Given the description of an element on the screen output the (x, y) to click on. 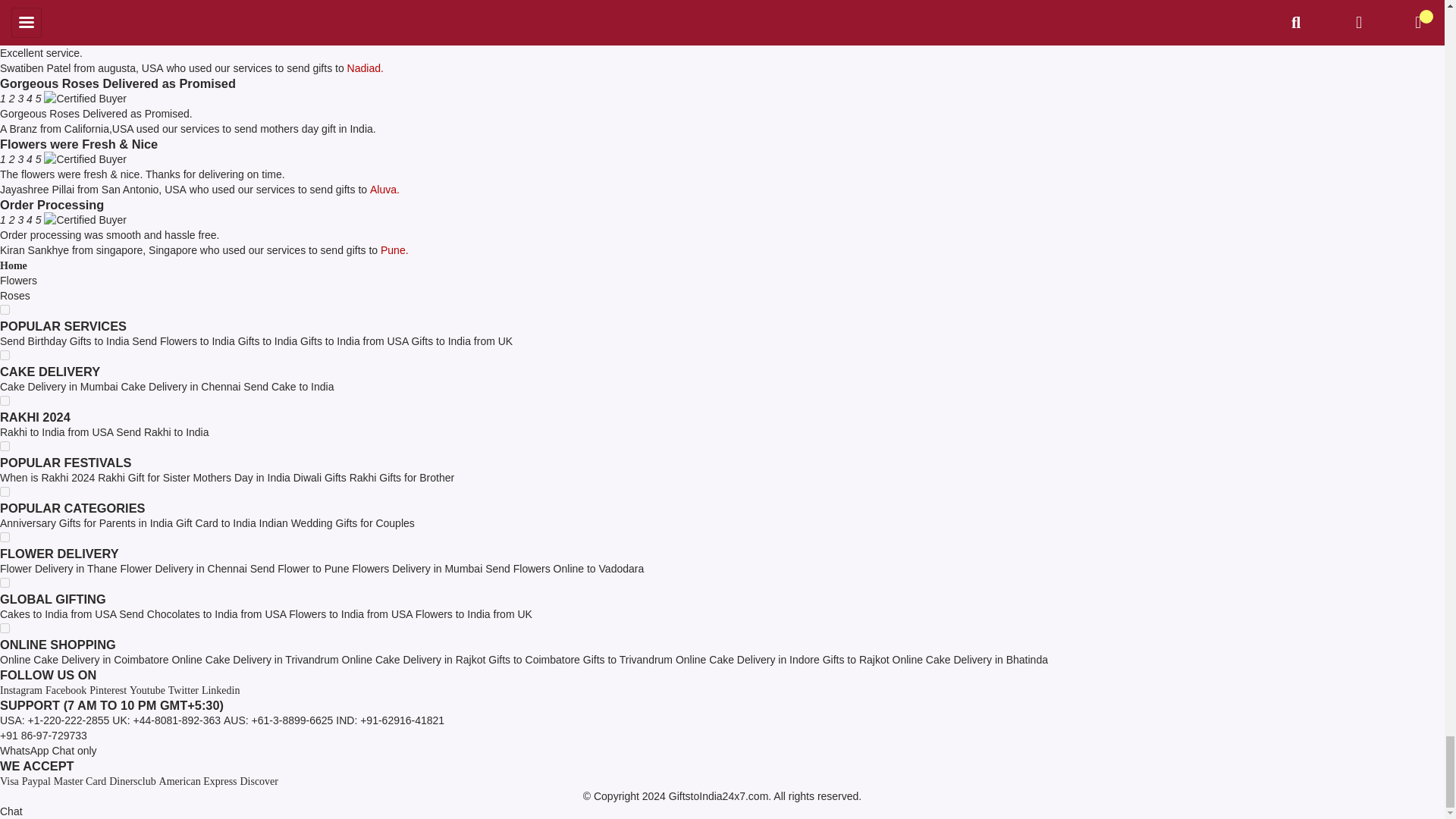
on (5, 355)
on (5, 491)
on (5, 309)
on (5, 628)
on (5, 446)
on (5, 400)
on (5, 537)
on (5, 583)
